Given the description of an element on the screen output the (x, y) to click on. 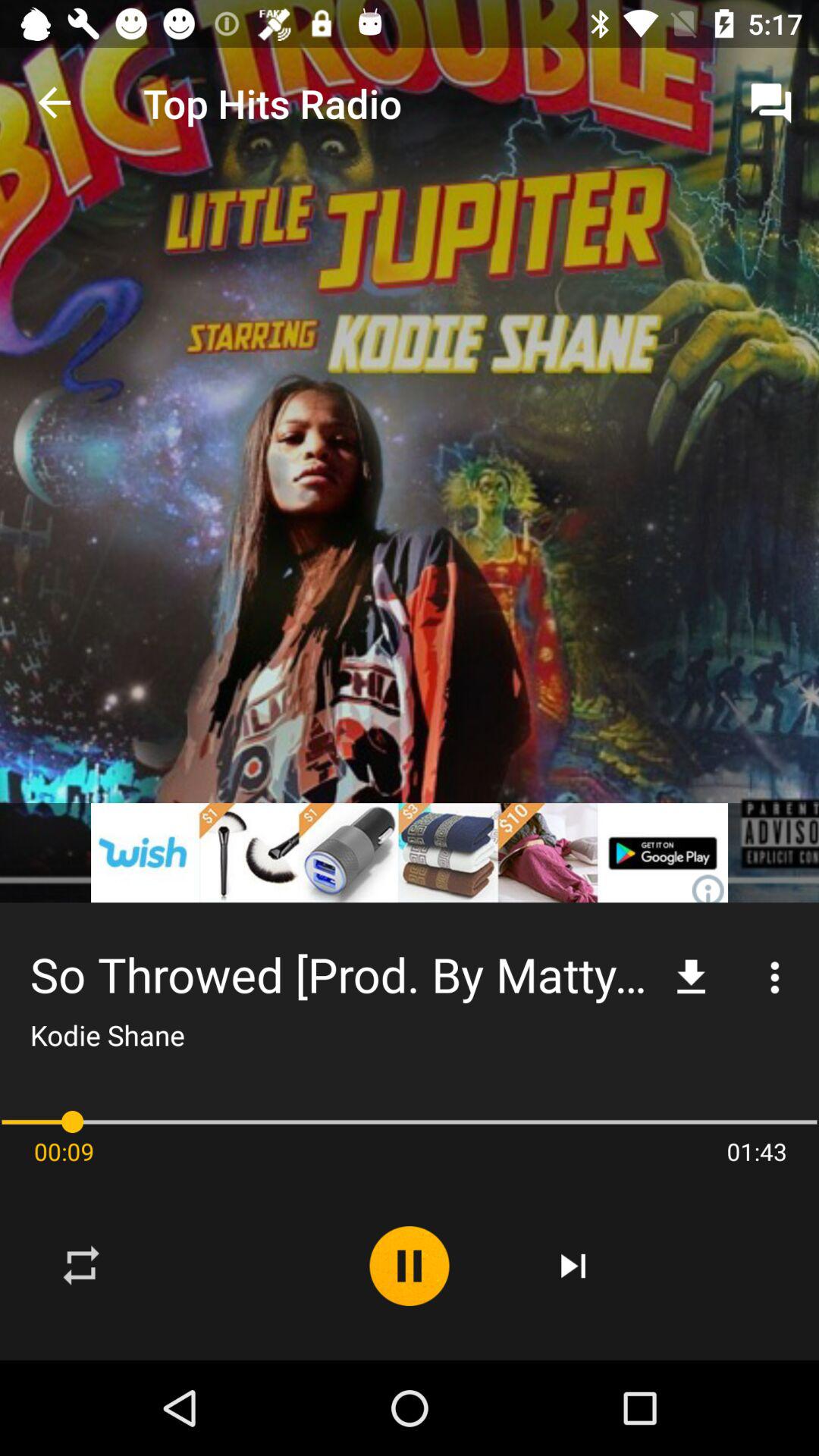
press item below kodie shane item (409, 1121)
